Given the description of an element on the screen output the (x, y) to click on. 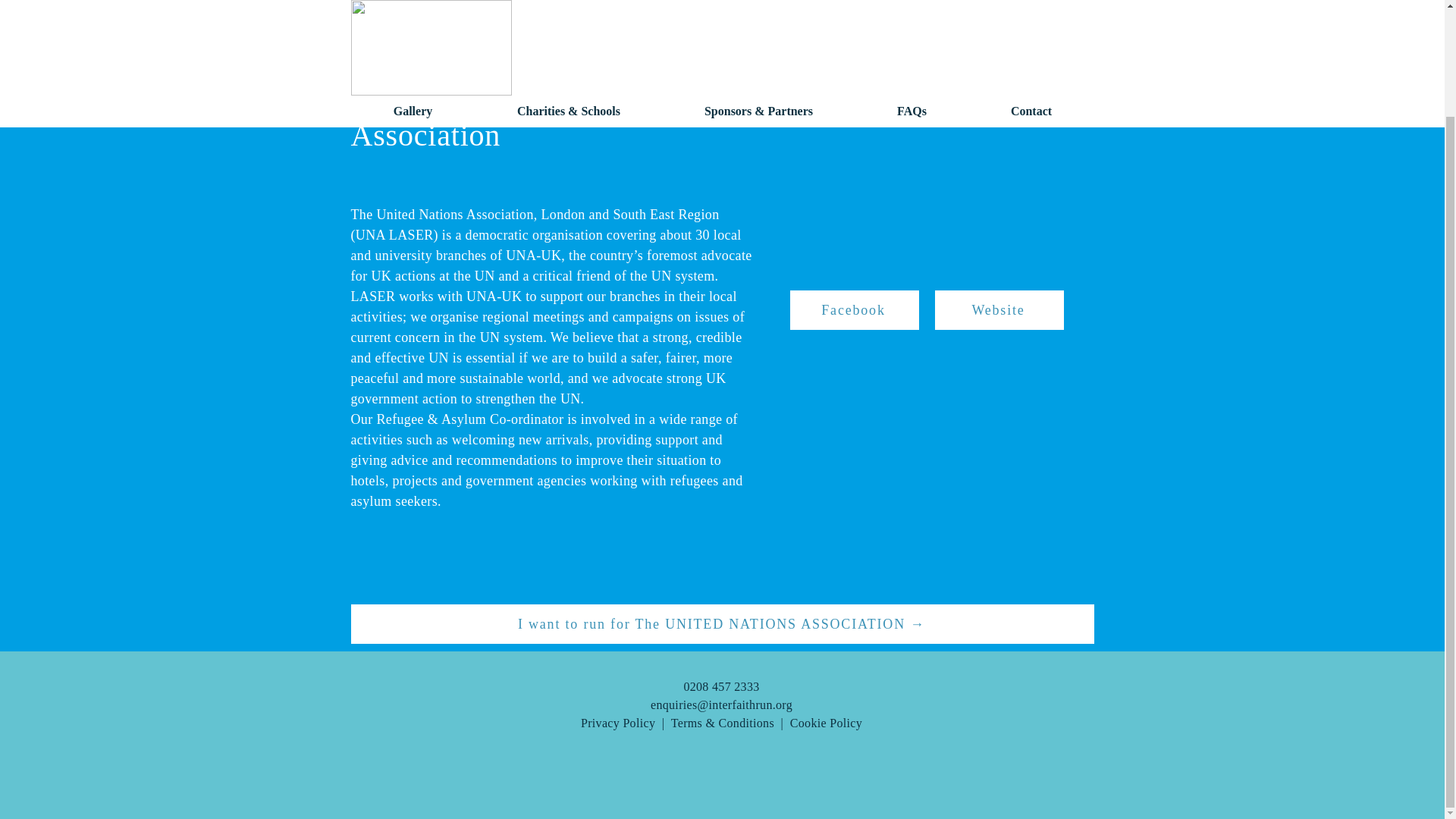
Website (998, 310)
Privacy Policy (617, 722)
Facebook (854, 310)
Cookie Policy (825, 722)
Gallery (412, 0)
0208 457 2333 (720, 686)
FAQs (912, 0)
Contact (1031, 0)
